Given the description of an element on the screen output the (x, y) to click on. 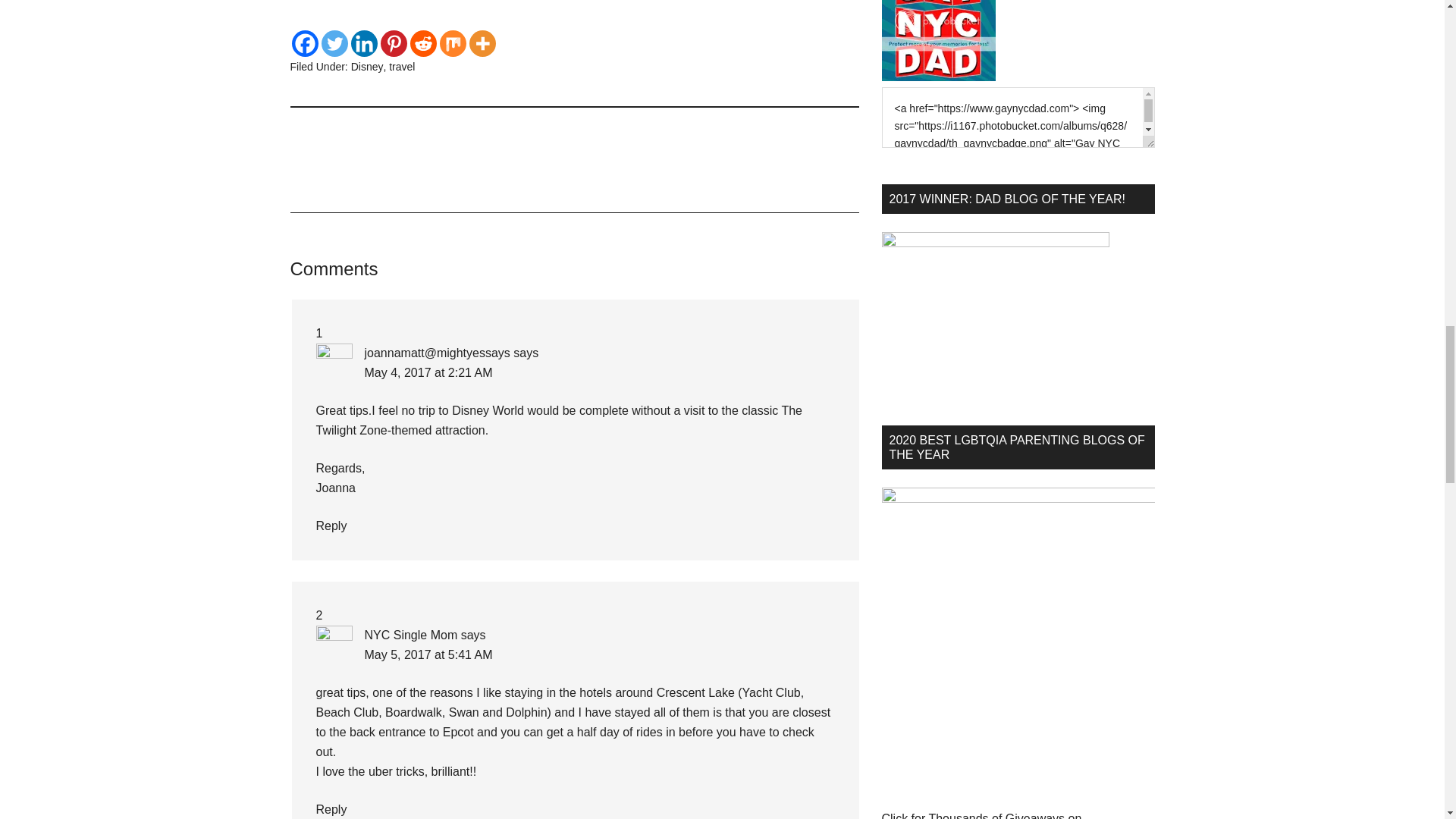
Pinterest (393, 43)
Mix (452, 43)
Facebook (304, 43)
Reddit (422, 43)
Linkedin (363, 43)
More (481, 43)
Disney (367, 66)
Twitter (334, 43)
